Given the description of an element on the screen output the (x, y) to click on. 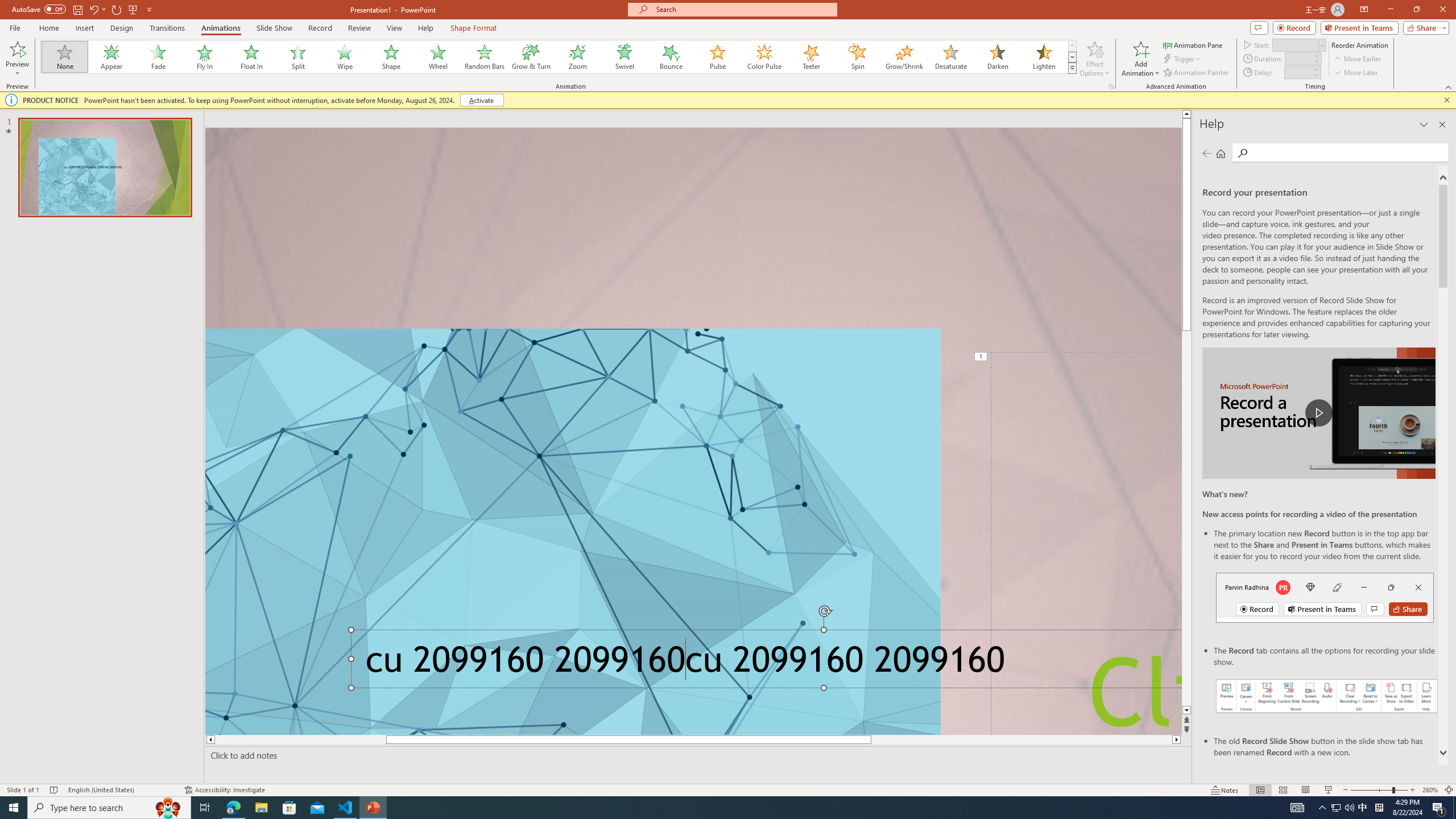
Animation Delay (1297, 72)
Darken (997, 56)
Animation Duration (1298, 58)
Bounce (670, 56)
Grow/Shrink (903, 56)
Add Animation (1141, 58)
Lighten (1043, 56)
